Given the description of an element on the screen output the (x, y) to click on. 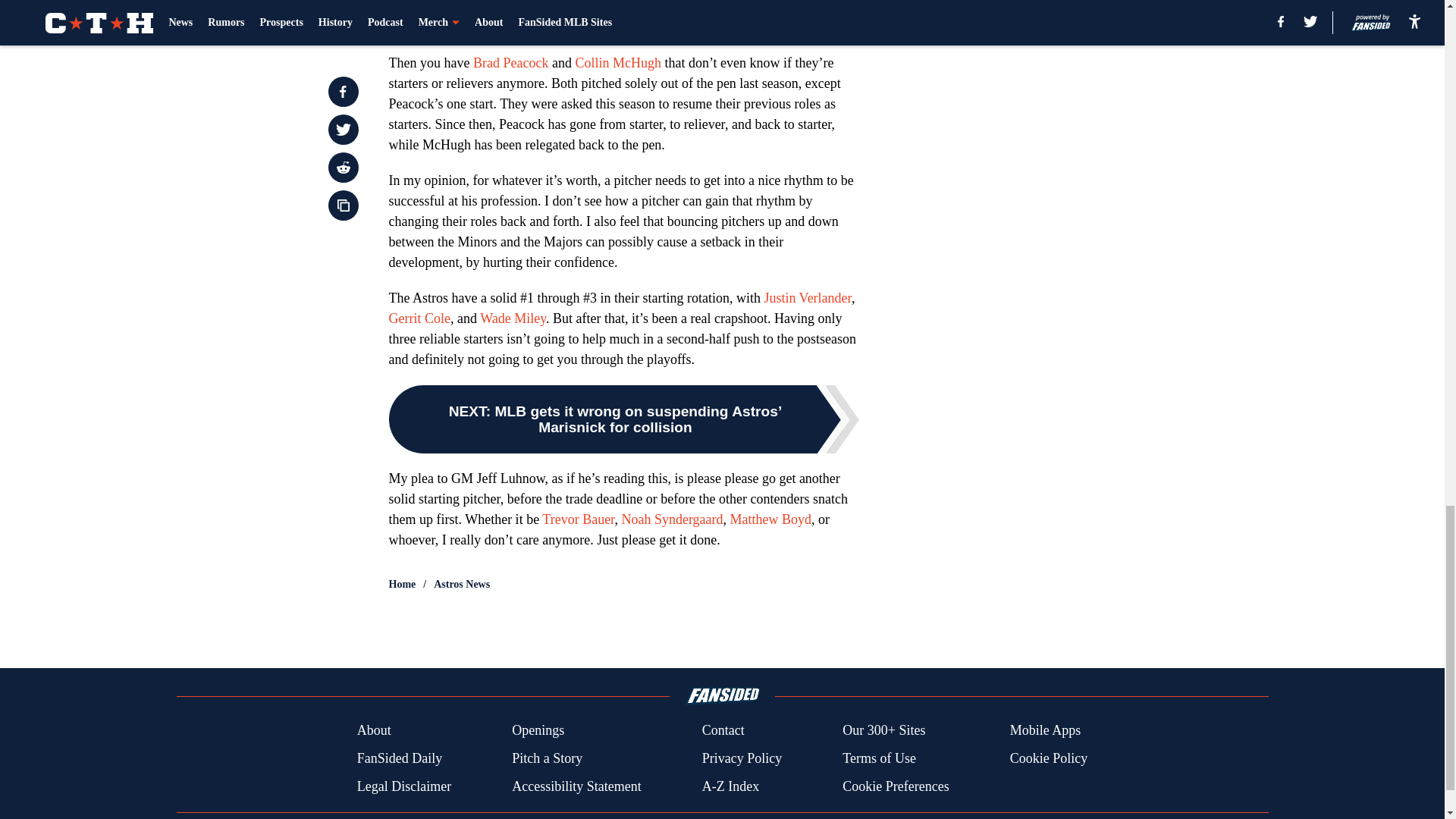
Astros News (461, 584)
Wade Miley (513, 318)
Brad Peacock (510, 62)
About (373, 730)
Noah Syndergaard (671, 519)
Trevor Bauer (577, 519)
Gerrit Cole (418, 318)
Collin McHugh (618, 62)
Justin Verlander (806, 297)
Home (401, 584)
